Given the description of an element on the screen output the (x, y) to click on. 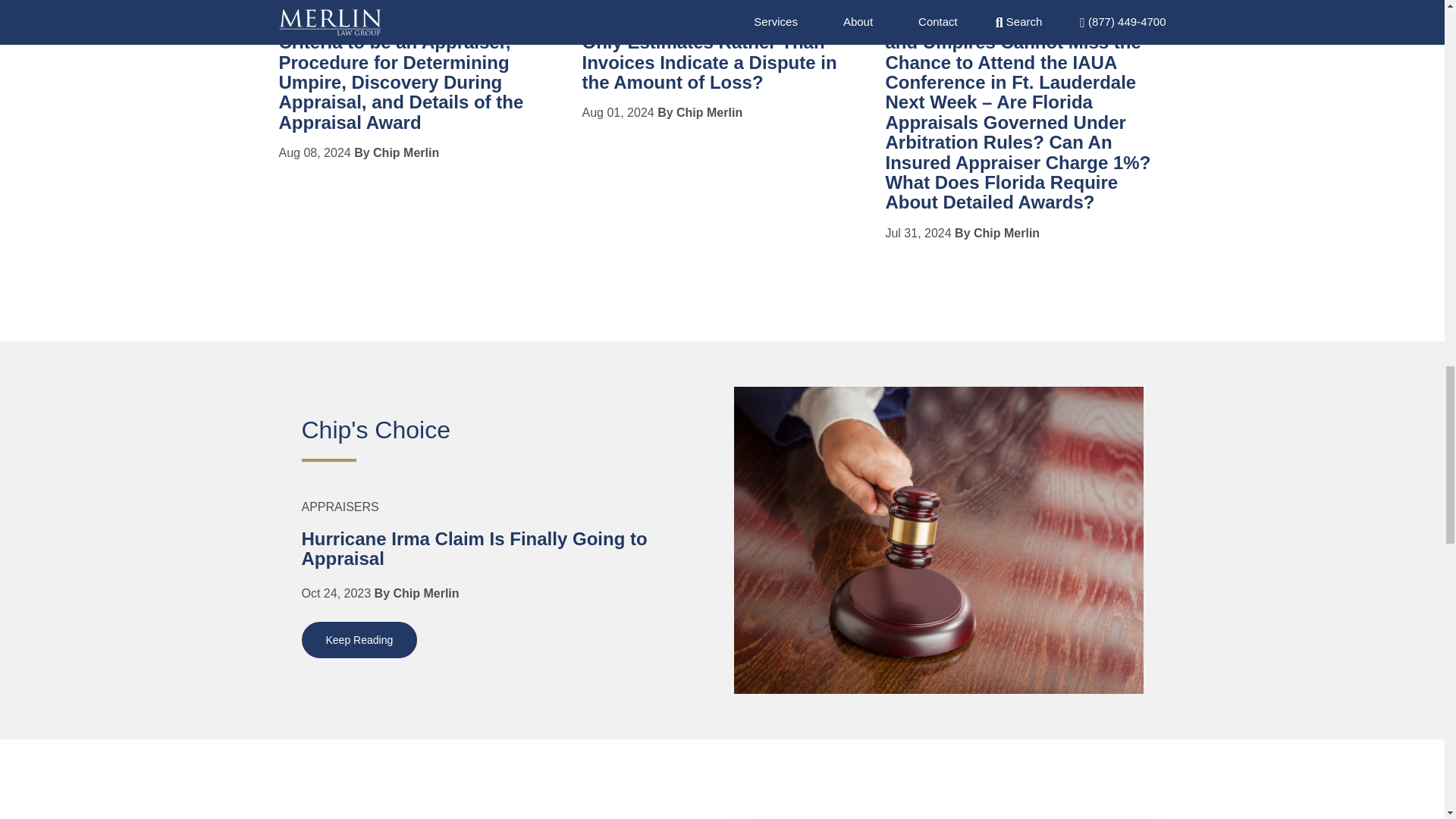
By Chip Merlin (396, 152)
By Chip Merlin (700, 112)
